Given the description of an element on the screen output the (x, y) to click on. 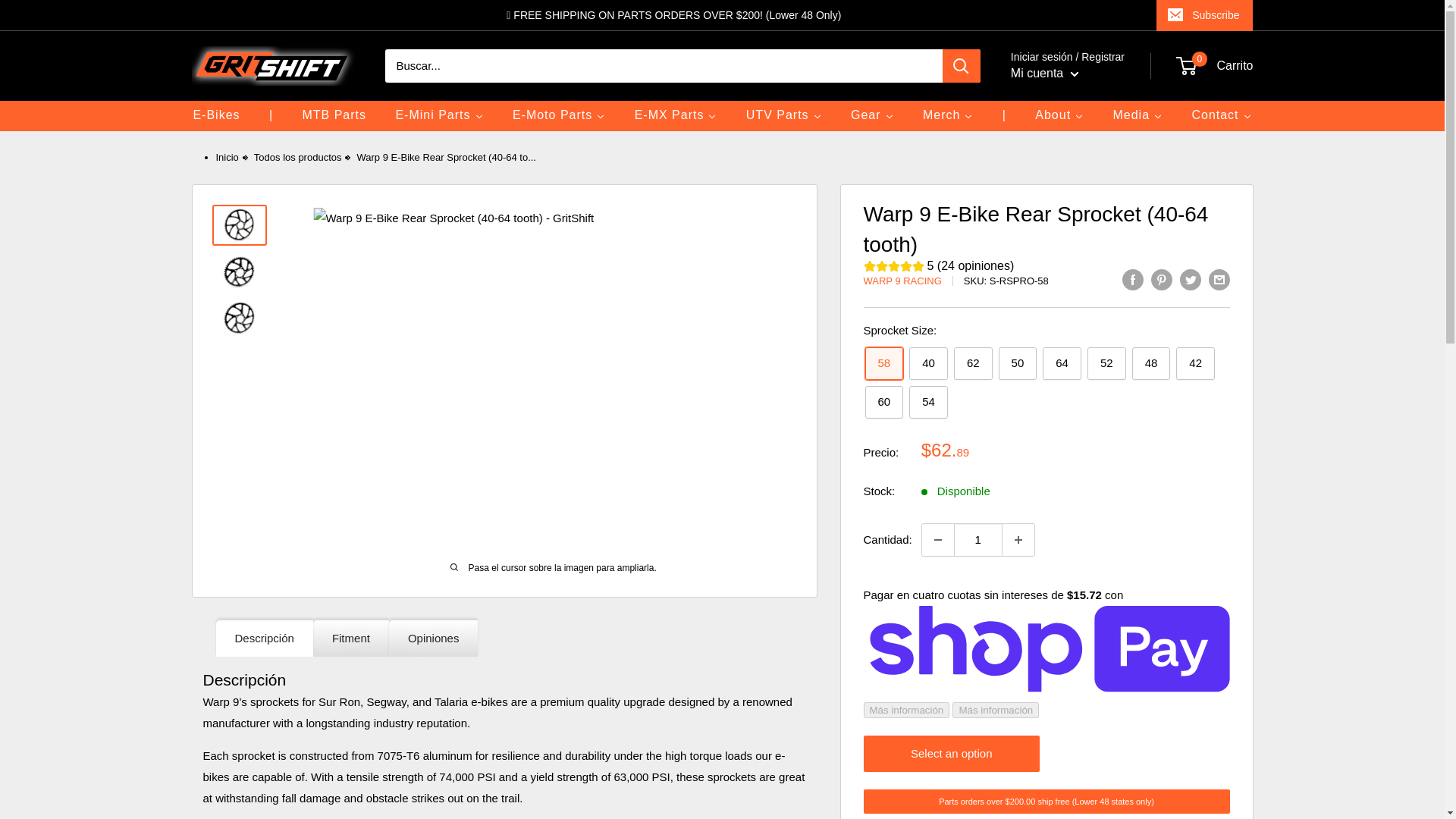
1 (978, 540)
E-Moto Parts (558, 115)
Mi cuenta (1044, 73)
MTB Parts (333, 115)
Subscribe (1204, 15)
E-Bikes (215, 115)
E-Mini Parts (438, 115)
